Given the description of an element on the screen output the (x, y) to click on. 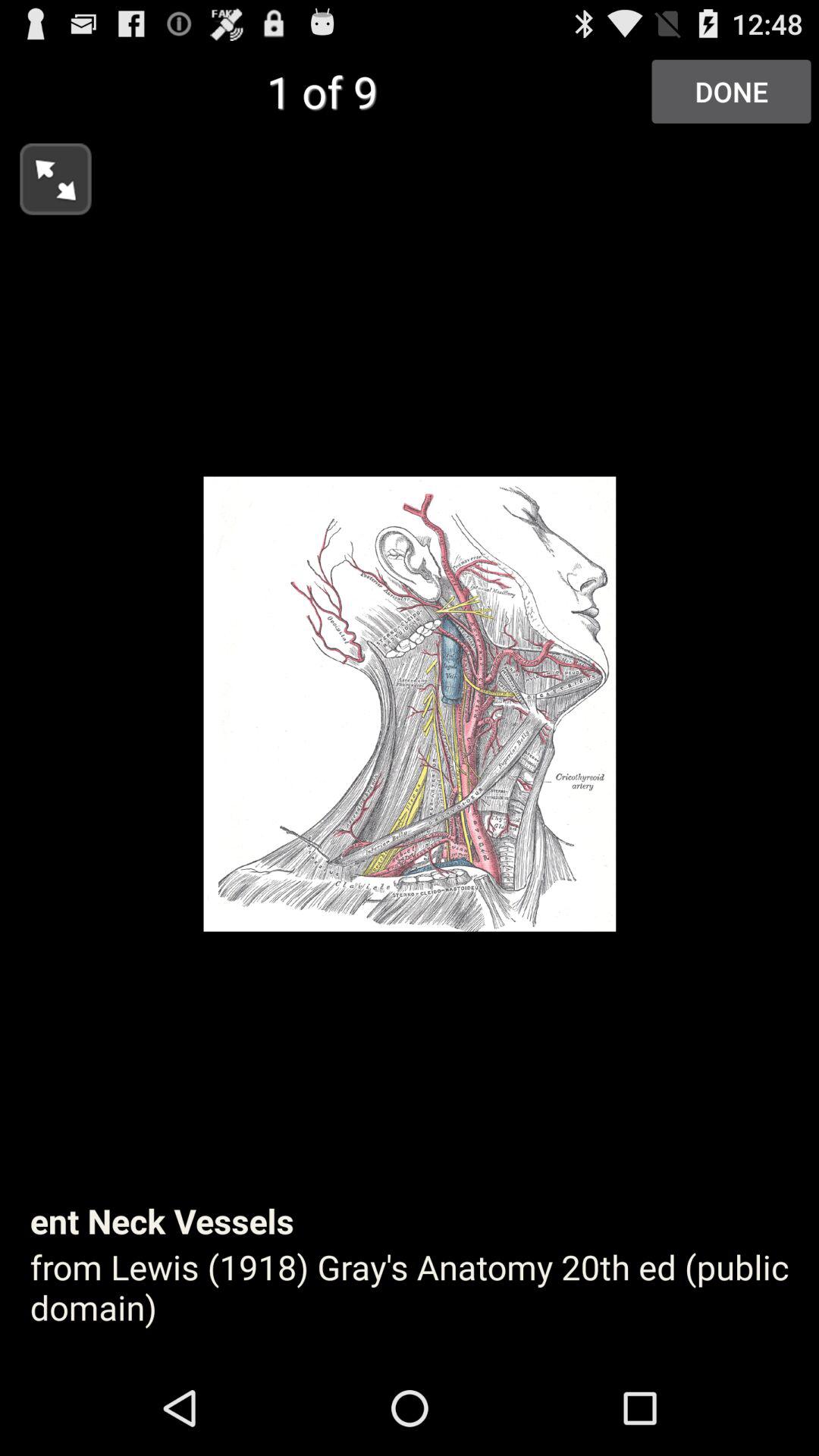
jump until the done (731, 91)
